Given the description of an element on the screen output the (x, y) to click on. 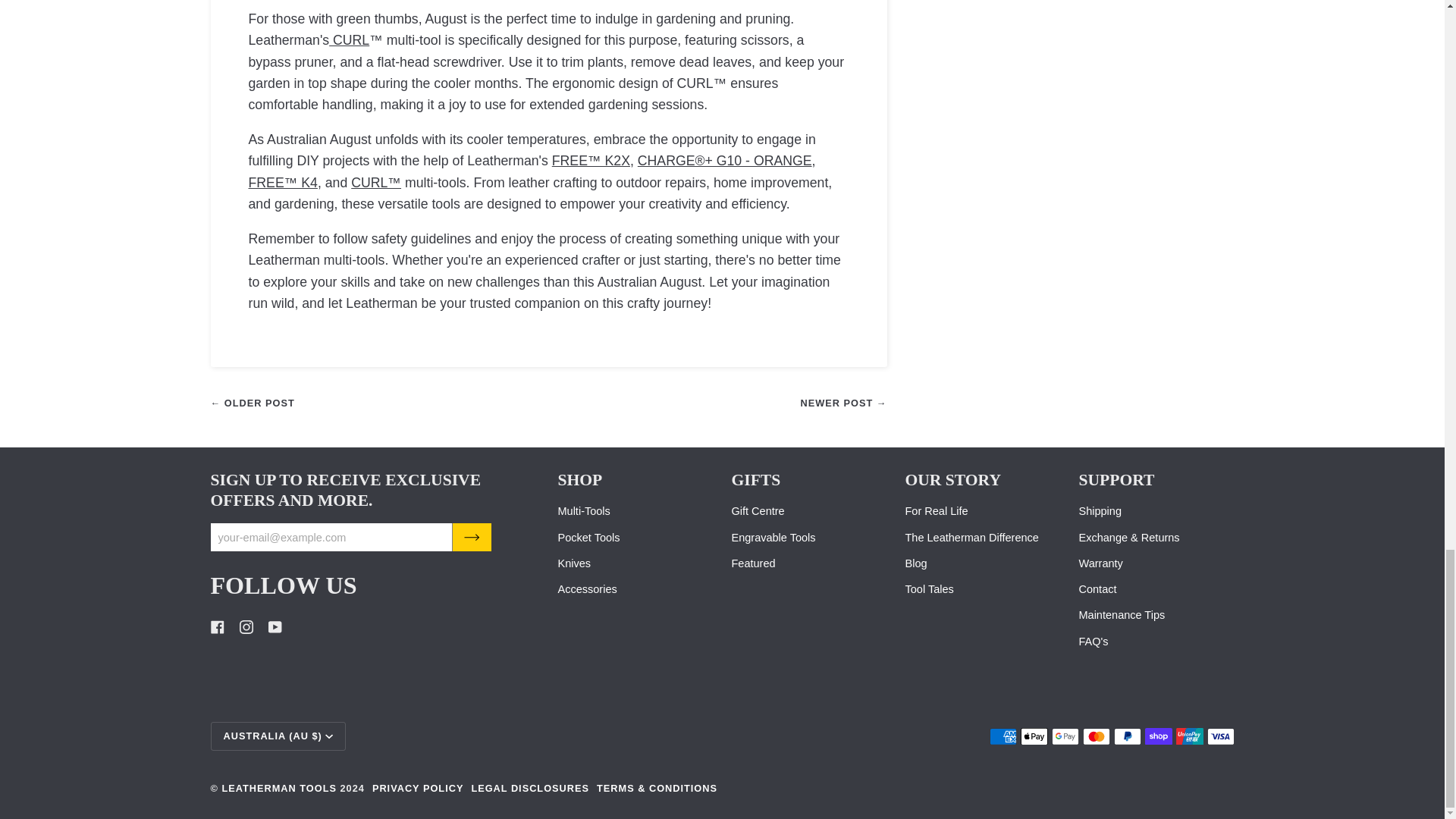
GOOGLE PAY (1064, 736)
Curl (349, 39)
UNION PAY (1188, 736)
FREE K2X (590, 160)
Curl (375, 182)
SHOP PAY (1158, 736)
PAYPAL (1126, 736)
VISA (1220, 736)
AMERICAN EXPRESS (1002, 736)
APPLE PAY (1034, 736)
FREE K4 (282, 182)
MASTERCARD (1096, 736)
